Given the description of an element on the screen output the (x, y) to click on. 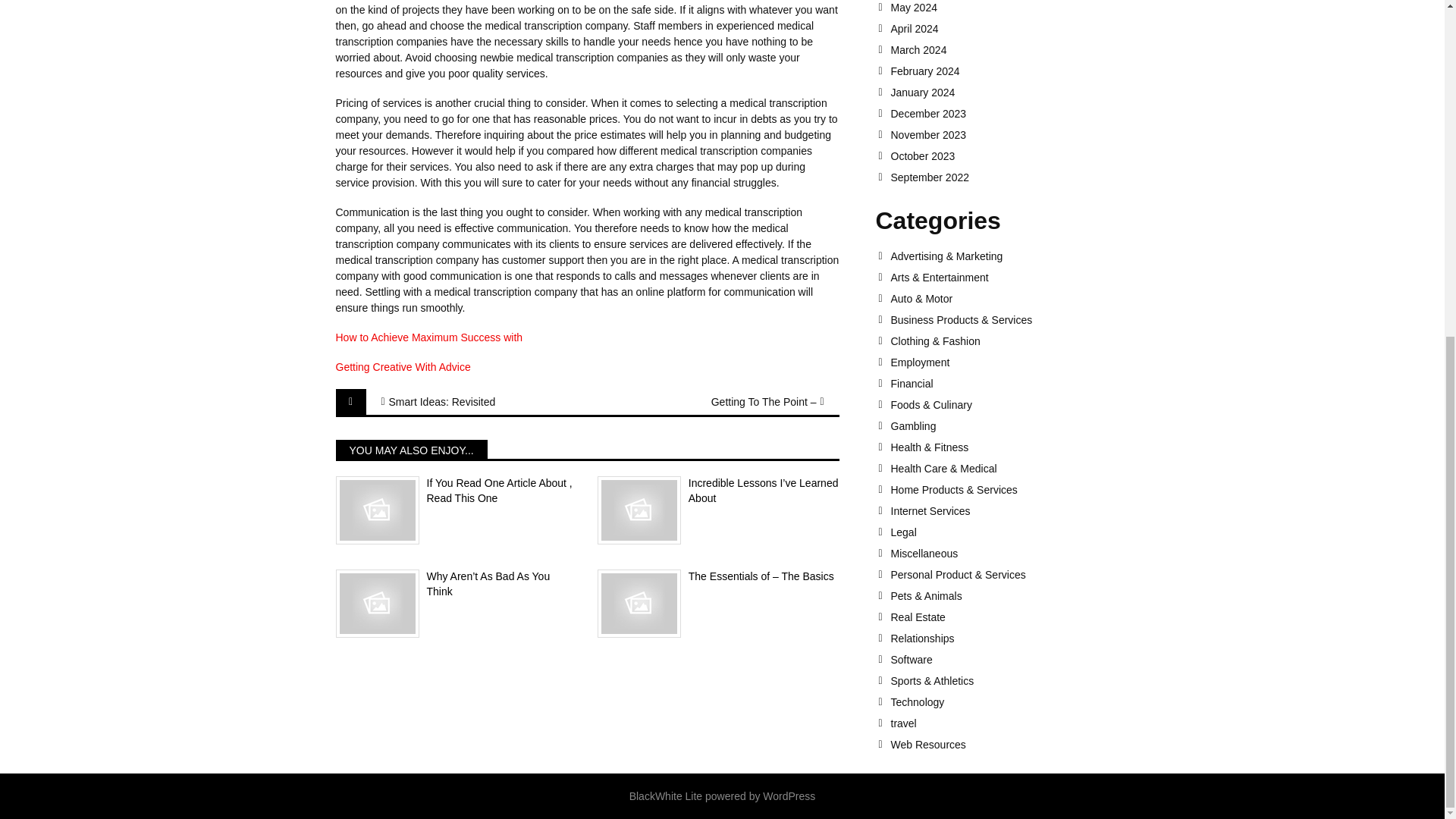
Getting Creative With Advice (402, 367)
March 2024 (998, 50)
If You Read One Article About , Read This One (455, 490)
September 2022 (998, 177)
How to Achieve Maximum Success with (428, 337)
February 2024 (998, 70)
Smart Ideas: Revisited (464, 401)
November 2023 (998, 134)
December 2023 (998, 113)
April 2024 (998, 28)
January 2024 (998, 92)
May 2024 (998, 7)
October 2023 (998, 155)
